Given the description of an element on the screen output the (x, y) to click on. 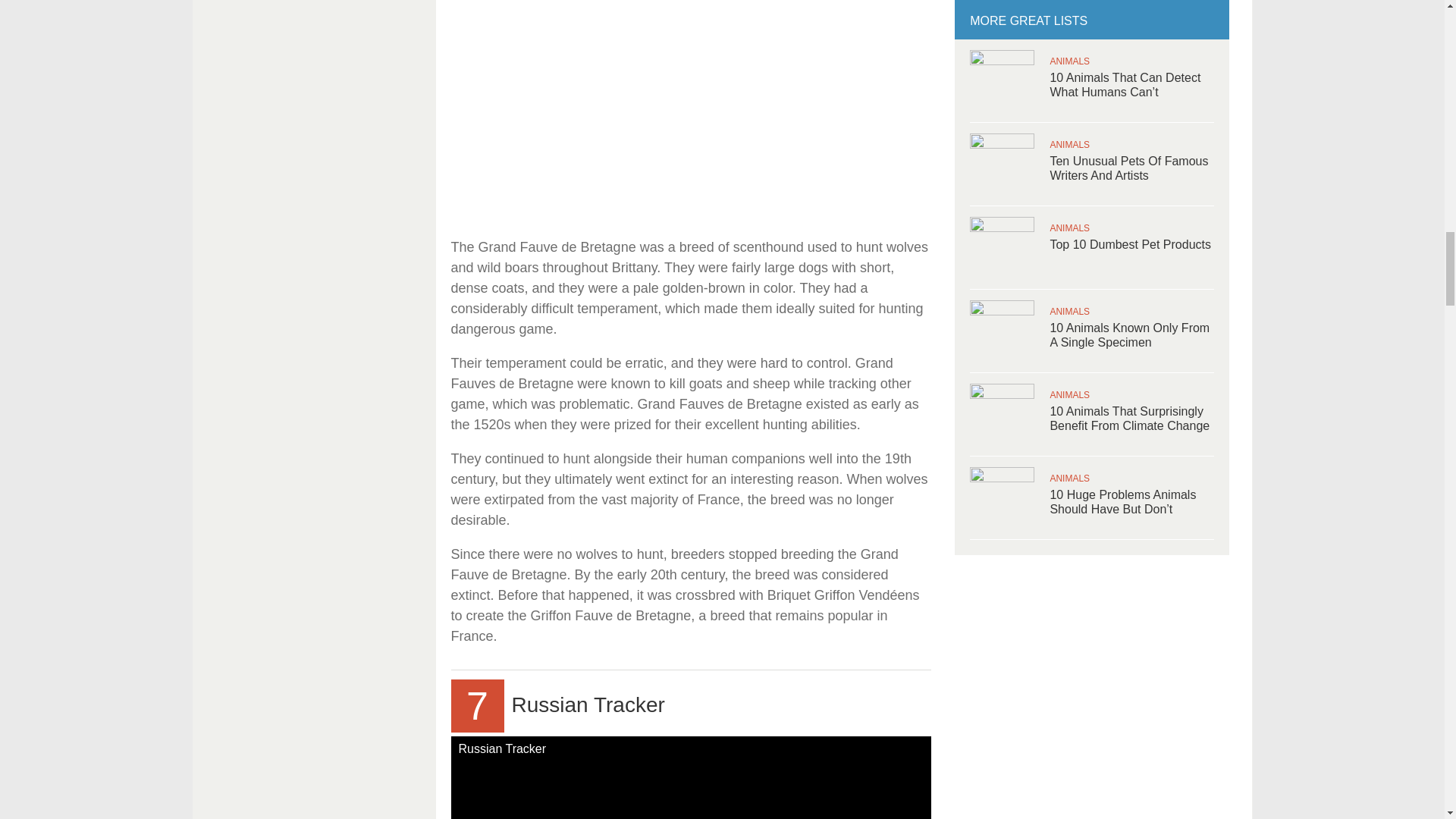
Russian Tracker (689, 777)
